Given the description of an element on the screen output the (x, y) to click on. 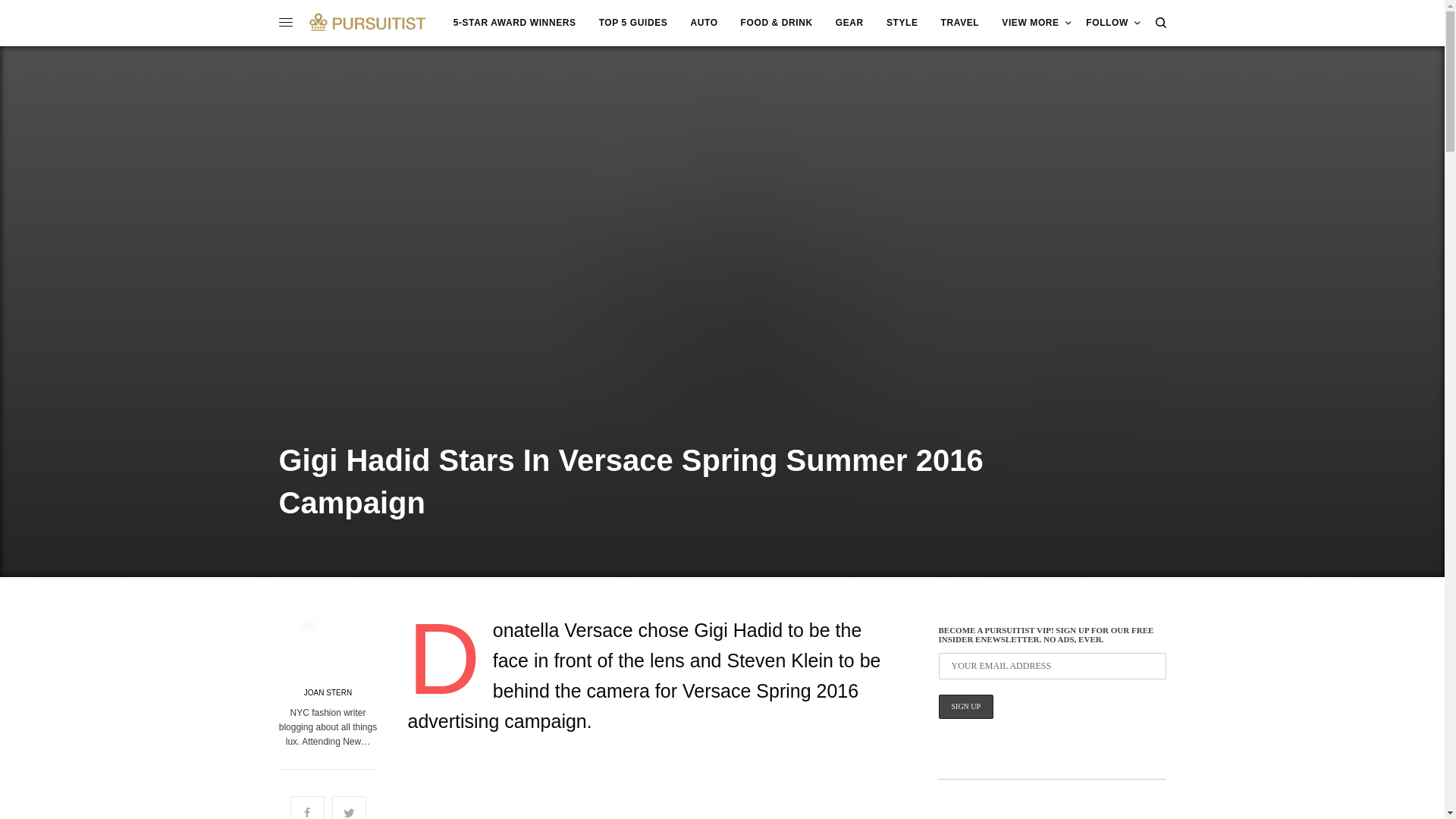
5-Star Pursuits (514, 22)
TOP 5 GUIDES (633, 22)
Sign up (966, 706)
Pursuitist (366, 22)
JOAN STERN (328, 692)
FOLLOW (1113, 22)
VIEW MORE (1035, 22)
5-STAR AWARD WINNERS (514, 22)
